Given the description of an element on the screen output the (x, y) to click on. 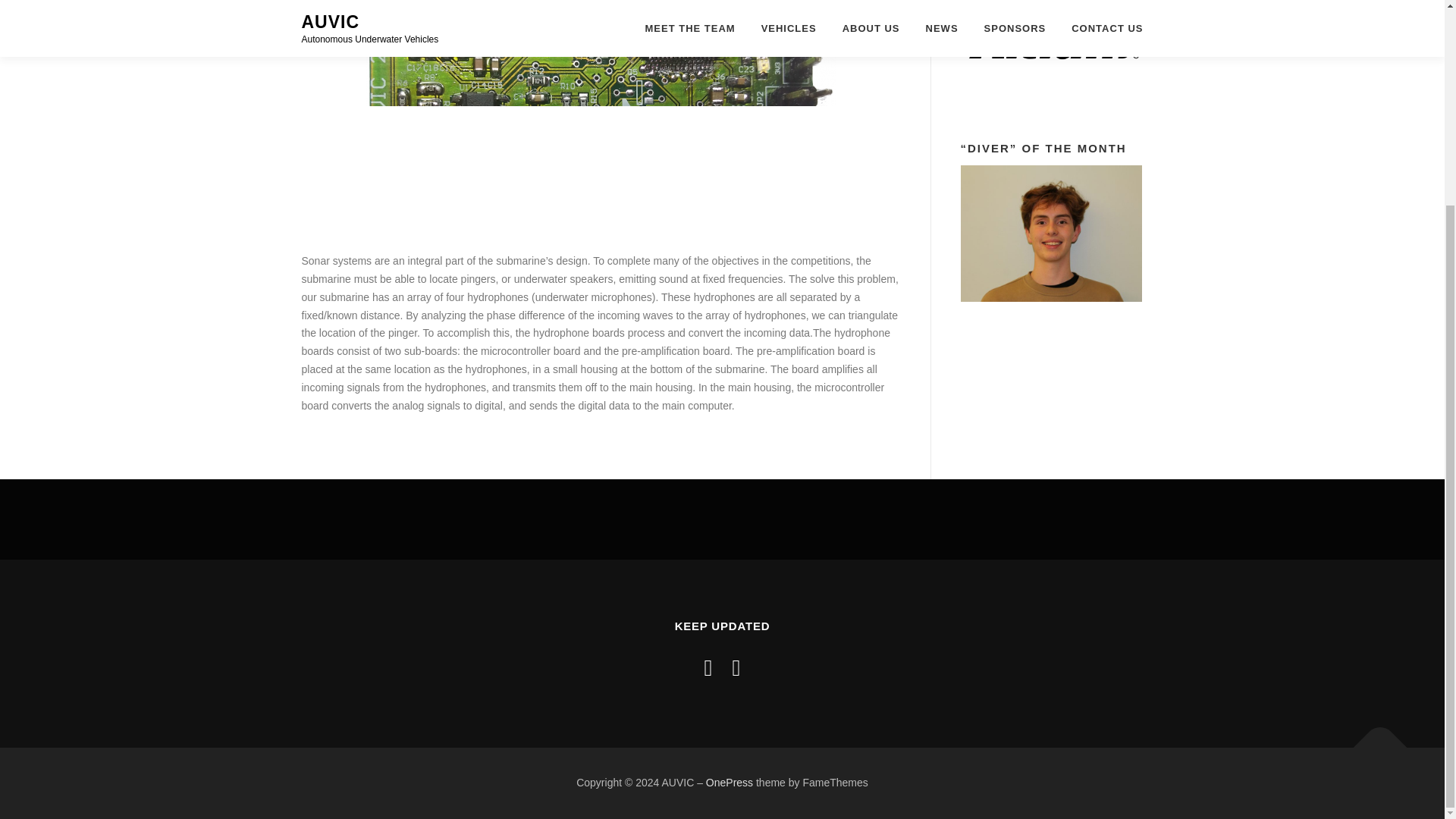
Back To Top (1372, 740)
"Diver" of the month (1050, 233)
OnePress (729, 782)
